Given the description of an element on the screen output the (x, y) to click on. 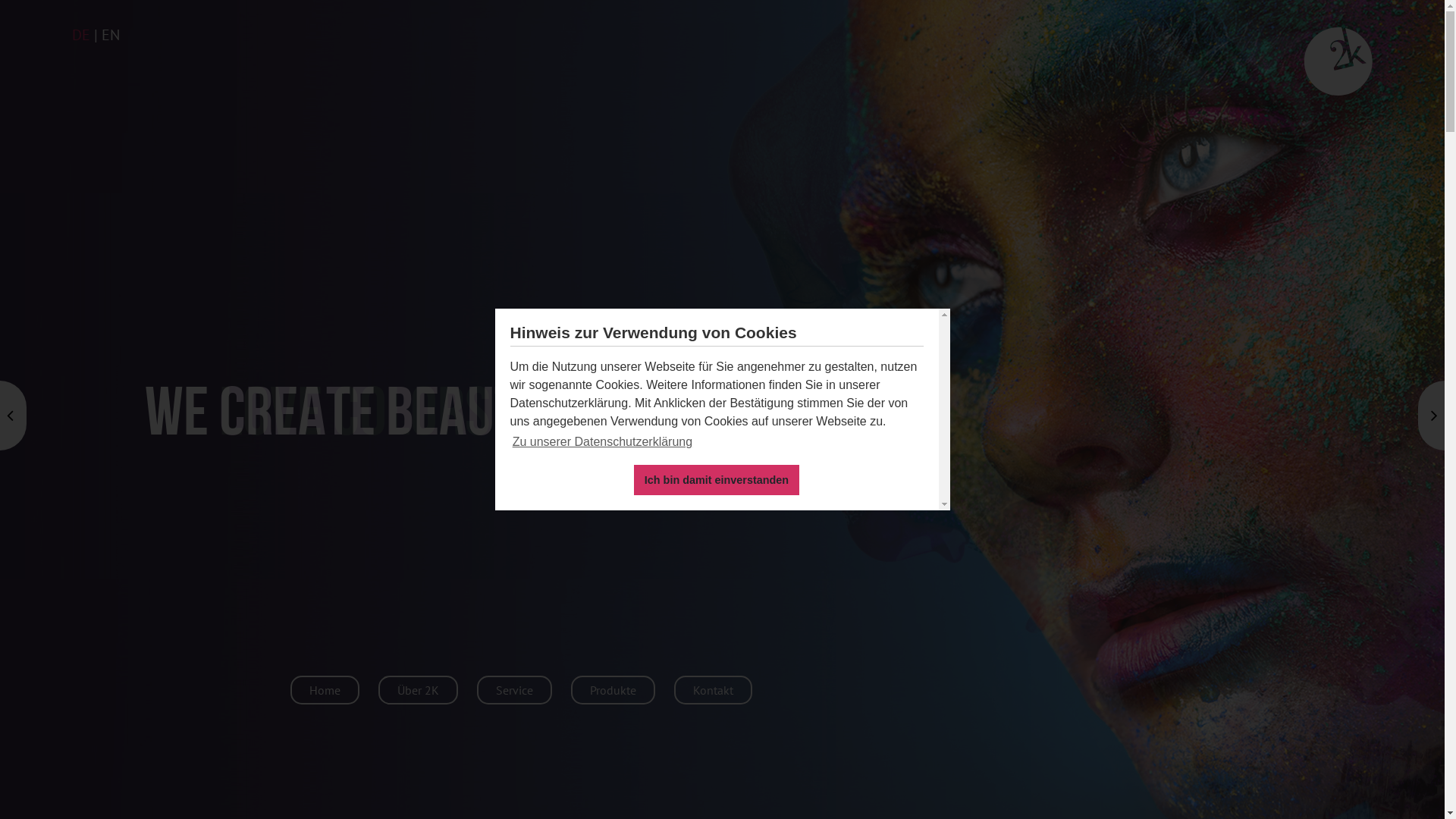
2K Logo Element type: hover (1338, 61)
Home Element type: text (323, 689)
Kontakt Element type: text (712, 689)
DE Element type: text (81, 34)
EN Element type: text (110, 34)
Ich bin damit einverstanden Element type: text (715, 479)
Service Element type: text (513, 689)
Produkte Element type: text (612, 689)
